Given the description of an element on the screen output the (x, y) to click on. 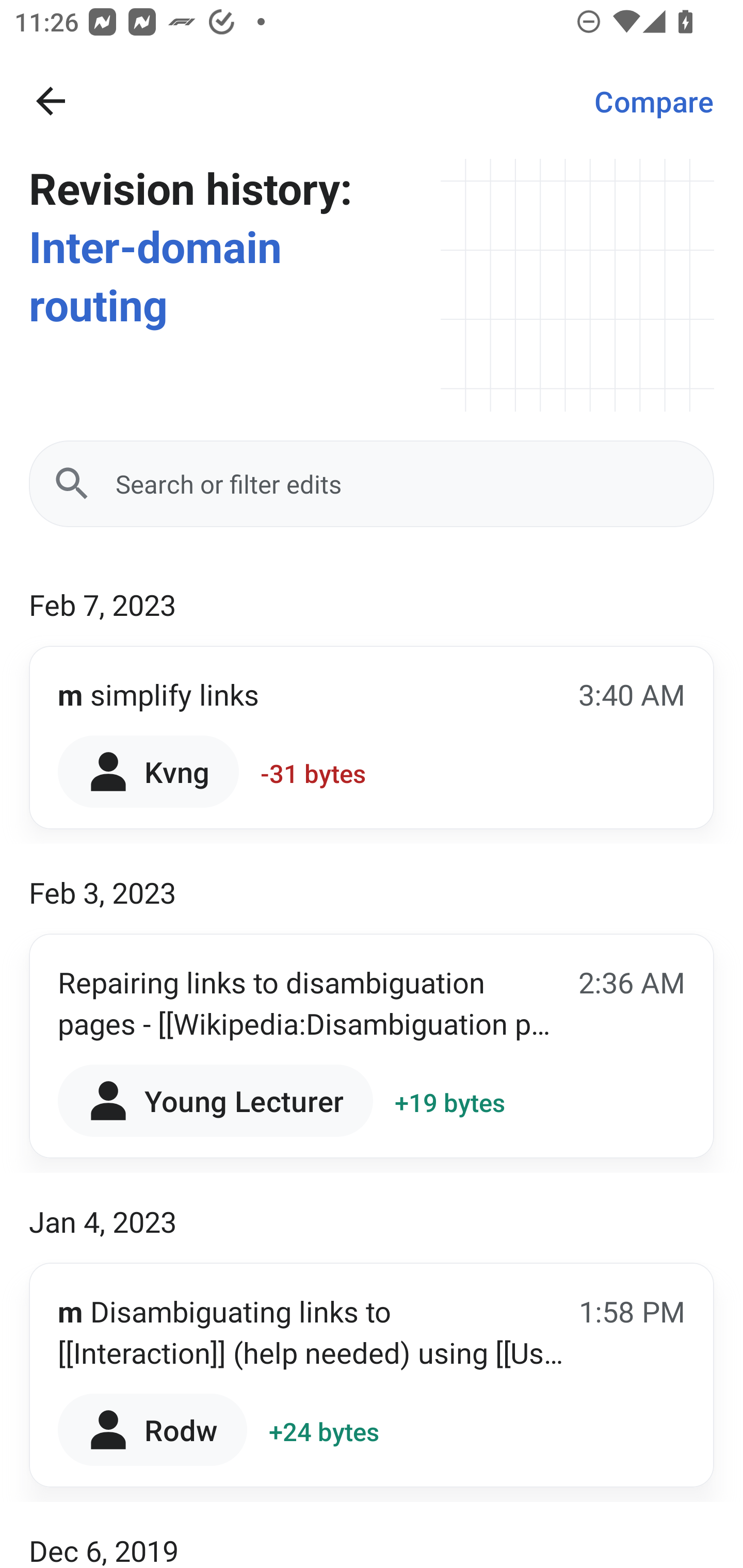
Navigate up (50, 101)
Compare (654, 101)
Search or filter edits (371, 483)
m simplify links 3:40 AM Kvng -31 bytes (371, 737)
Kvng (148, 771)
Young Lecturer (214, 1100)
Rodw (152, 1429)
